Given the description of an element on the screen output the (x, y) to click on. 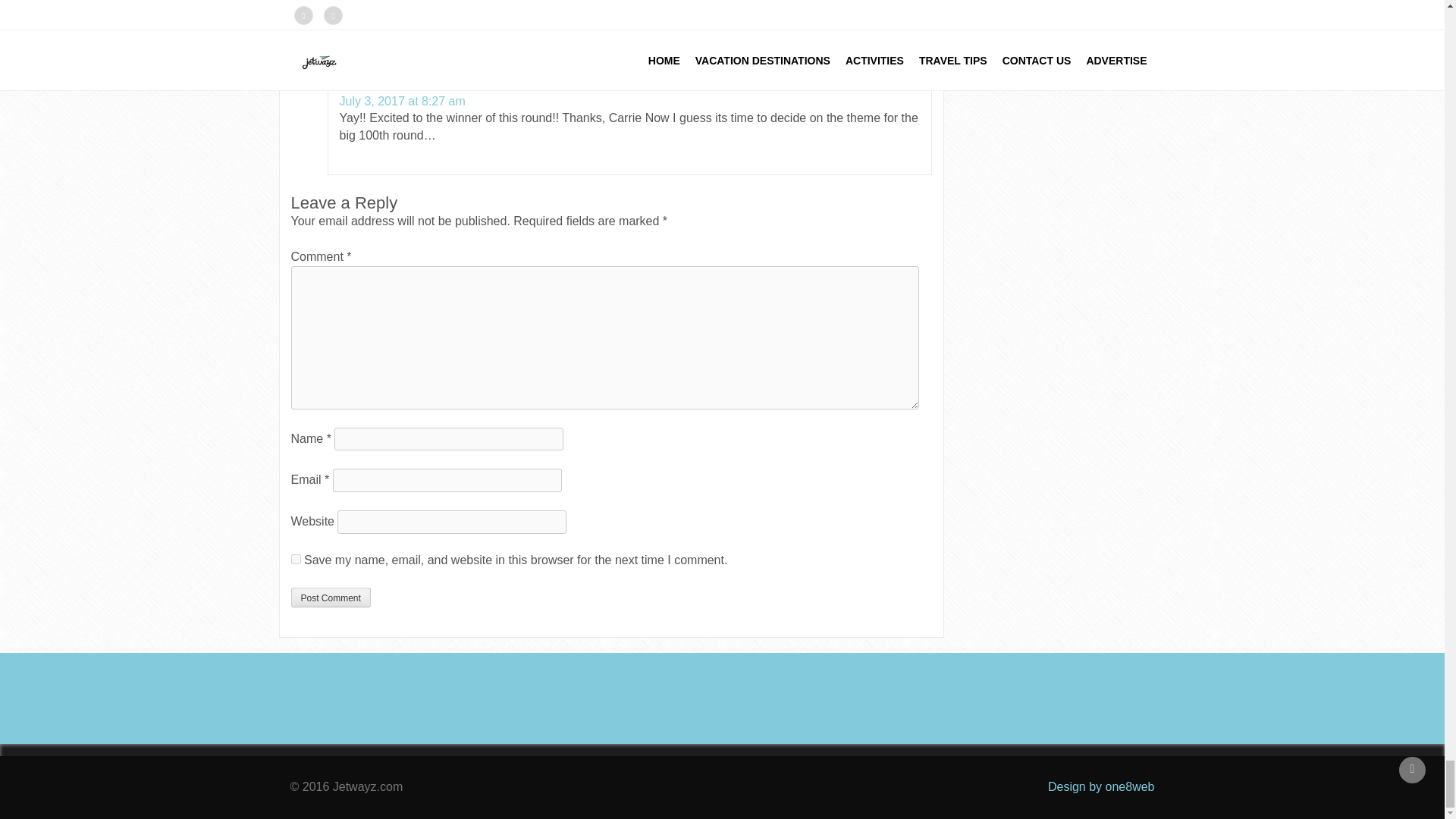
yes (296, 559)
Post Comment (331, 597)
